Given the description of an element on the screen output the (x, y) to click on. 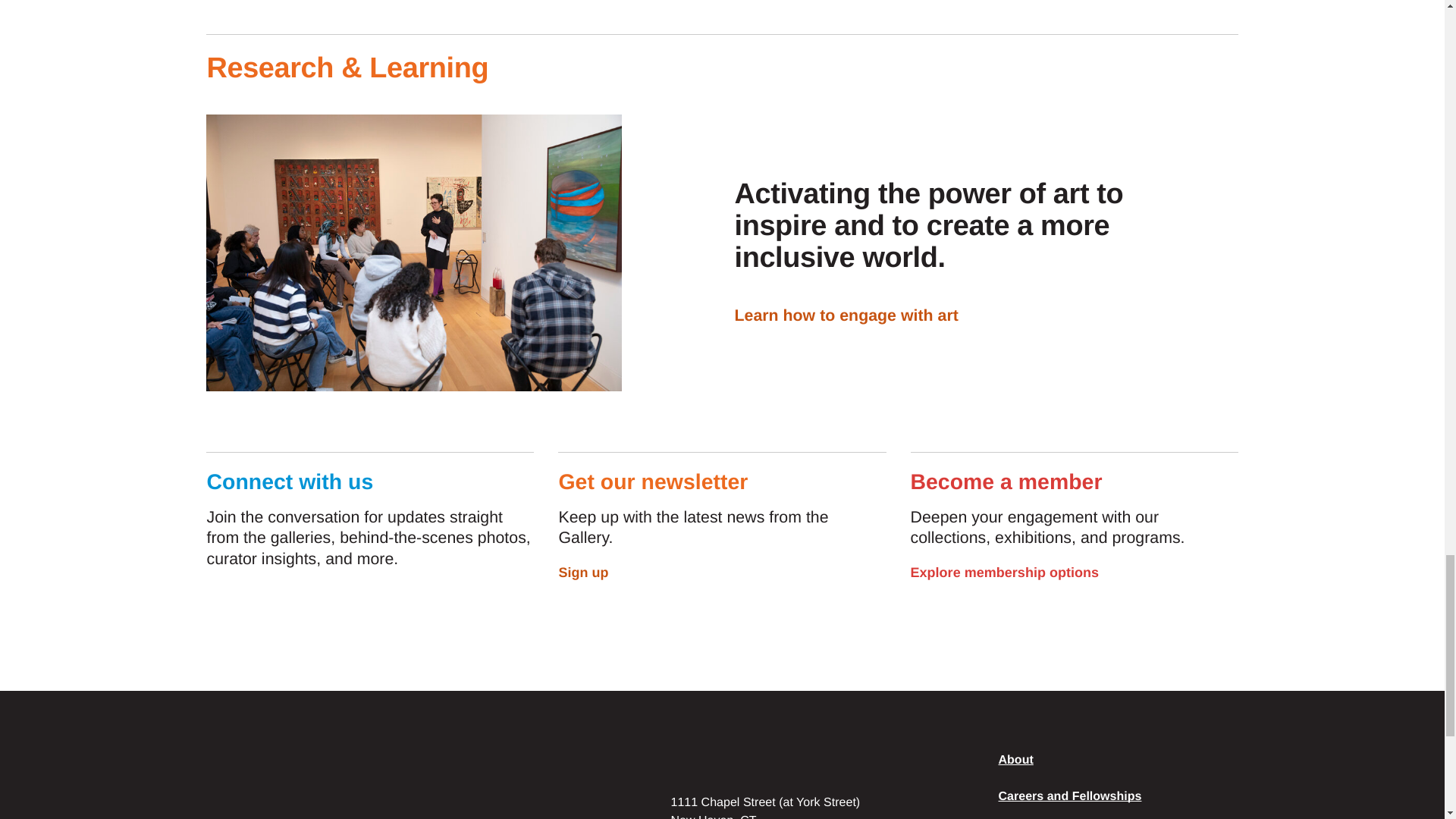
Go to Yale University Art Gallery home page (267, 785)
Explore membership options (1016, 572)
Learn how to engage with art (857, 315)
Facebook (215, 597)
YouTube (324, 597)
About (1014, 759)
Go to Yale University Art Gallery home page (267, 785)
Twitter (251, 597)
Sign up (594, 572)
Instagram (288, 597)
Careers and Fellowships (1069, 796)
